Given the description of an element on the screen output the (x, y) to click on. 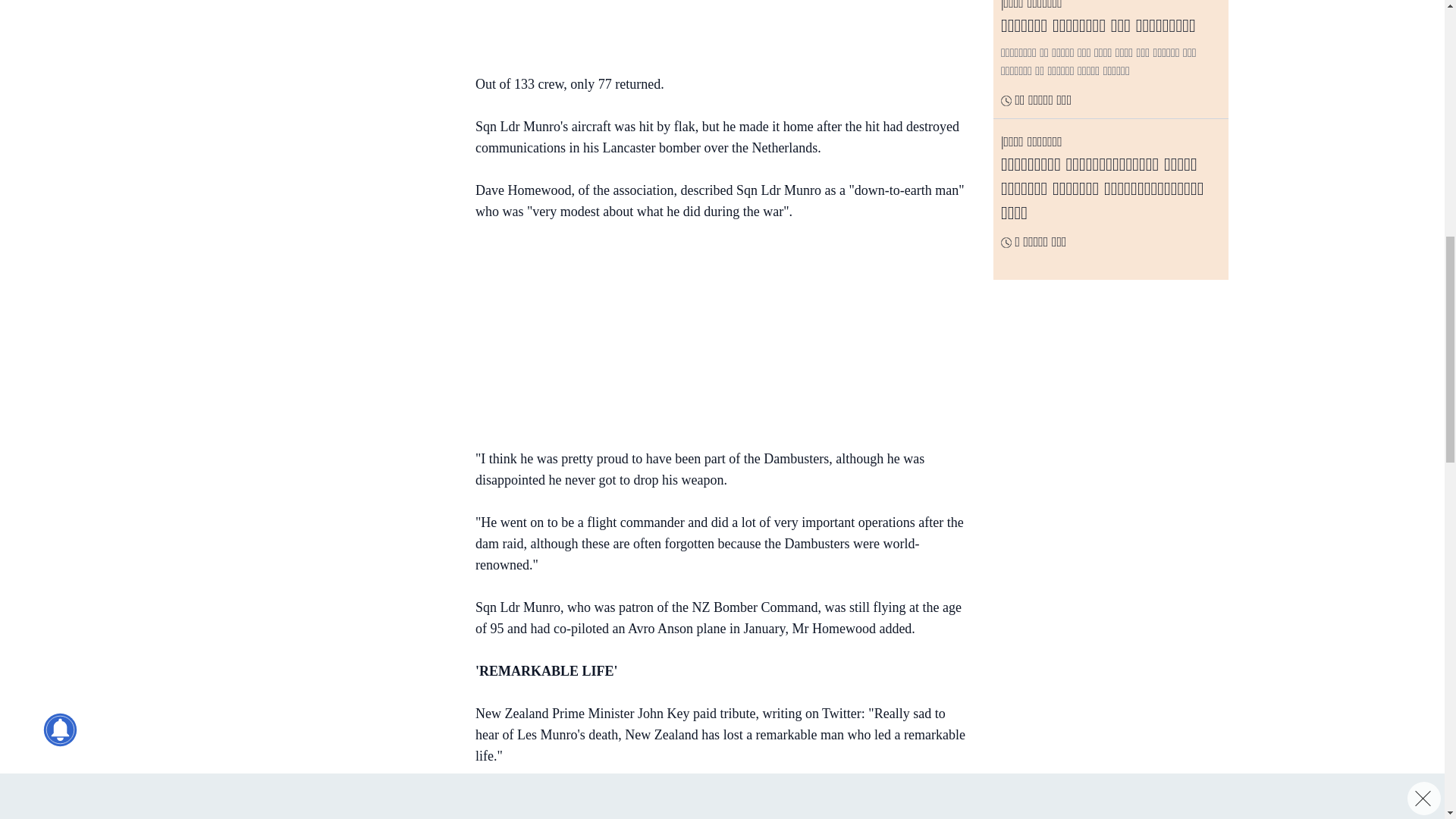
3rd party ad content (713, 29)
3rd party ad content (332, 24)
3rd party ad content (713, 338)
3rd party ad content (332, 159)
